Given the description of an element on the screen output the (x, y) to click on. 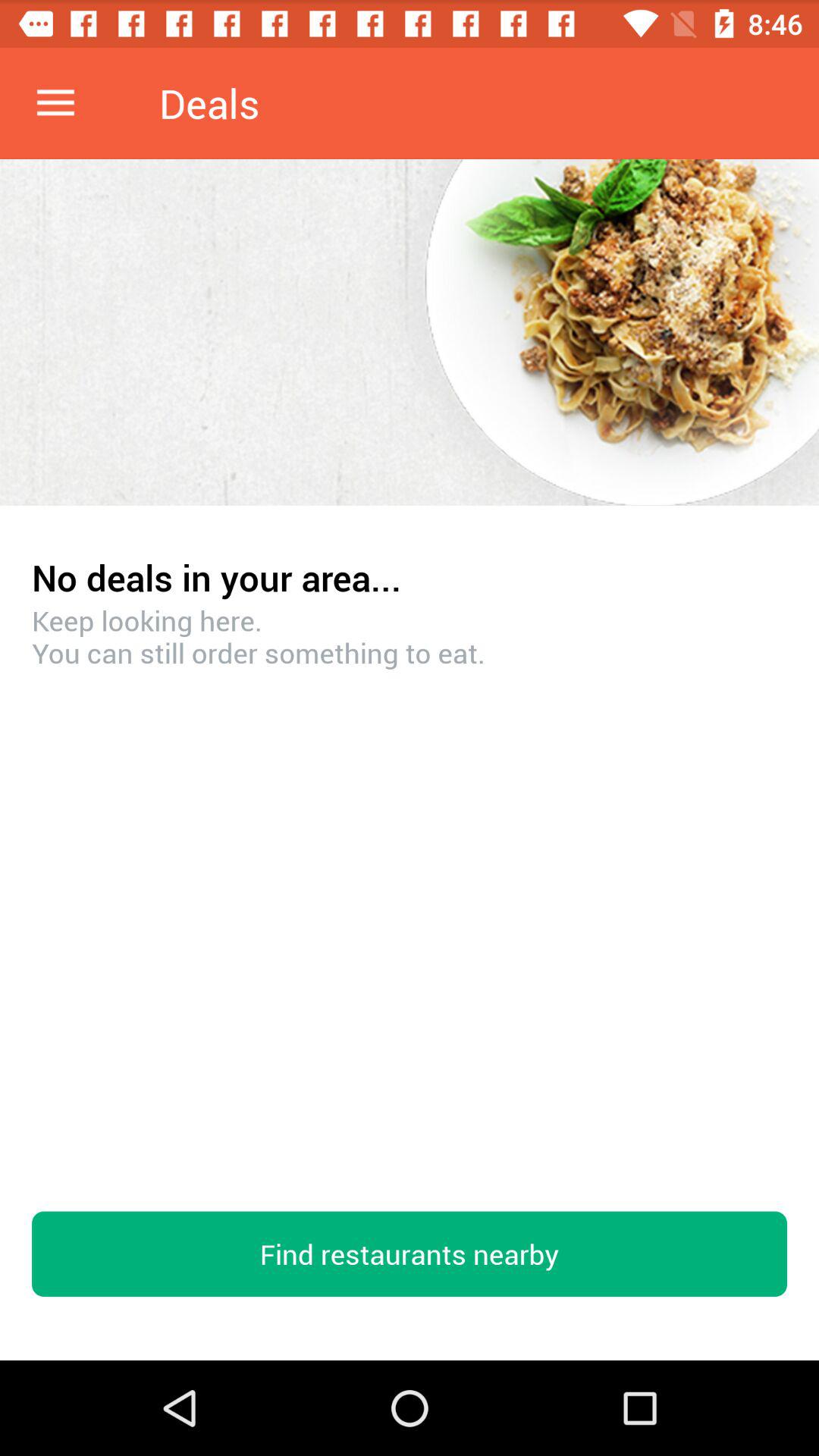
turn off the icon below the keep looking here icon (409, 1253)
